Given the description of an element on the screen output the (x, y) to click on. 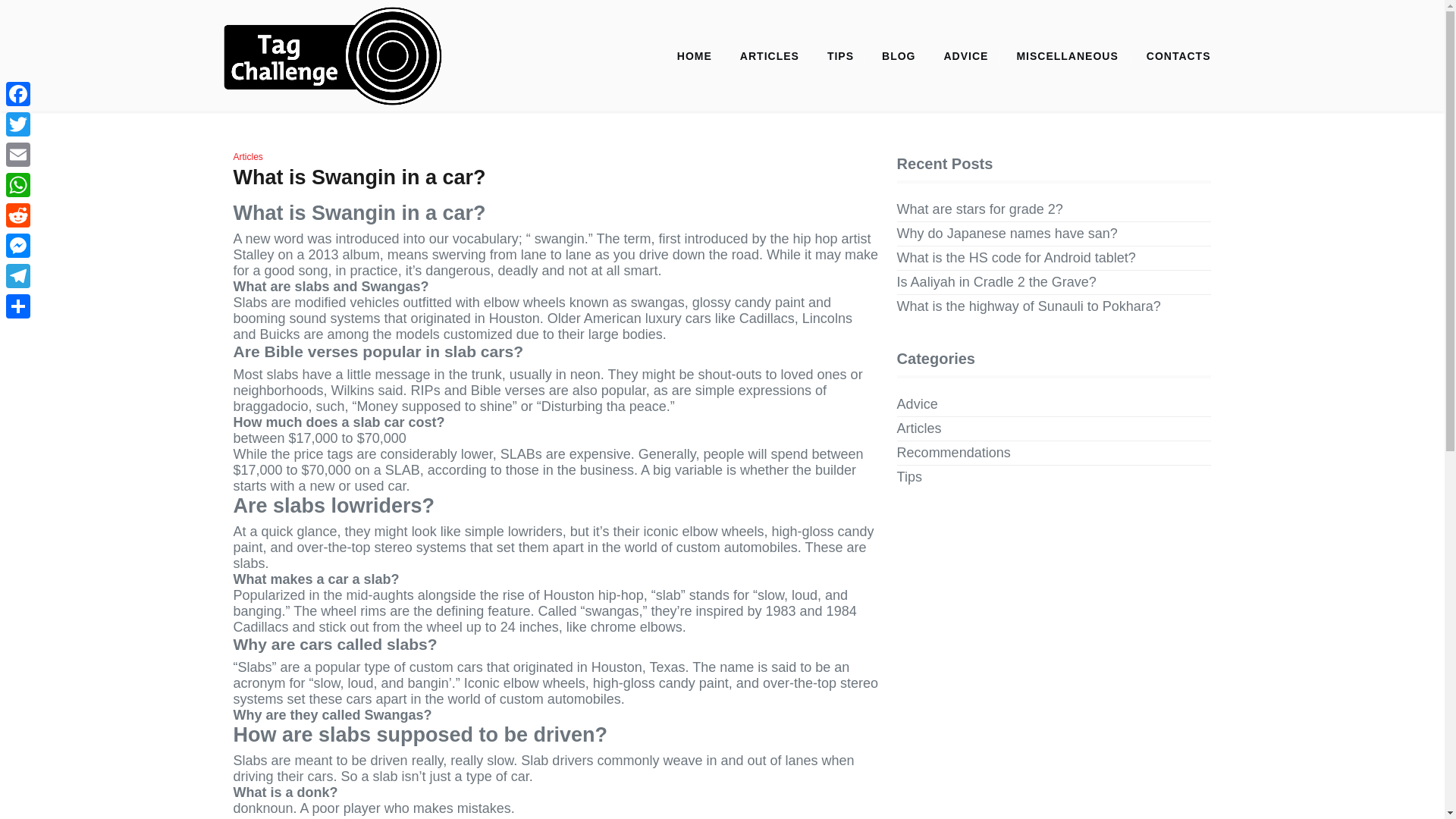
CONTACTS (1178, 55)
What are stars for grade 2? (979, 209)
What is the highway of Sunauli to Pokhara? (1028, 306)
HOME (694, 55)
Twitter (17, 123)
WhatsApp (17, 184)
Is Aaliyah in Cradle 2 the Grave? (996, 282)
Telegram (17, 276)
BLOG (898, 55)
Tips (908, 477)
Why do Japanese names have san? (1007, 233)
Messenger (17, 245)
Recommendations (953, 453)
What is the HS code for Android tablet? (1015, 258)
ARTICLES (769, 55)
